Given the description of an element on the screen output the (x, y) to click on. 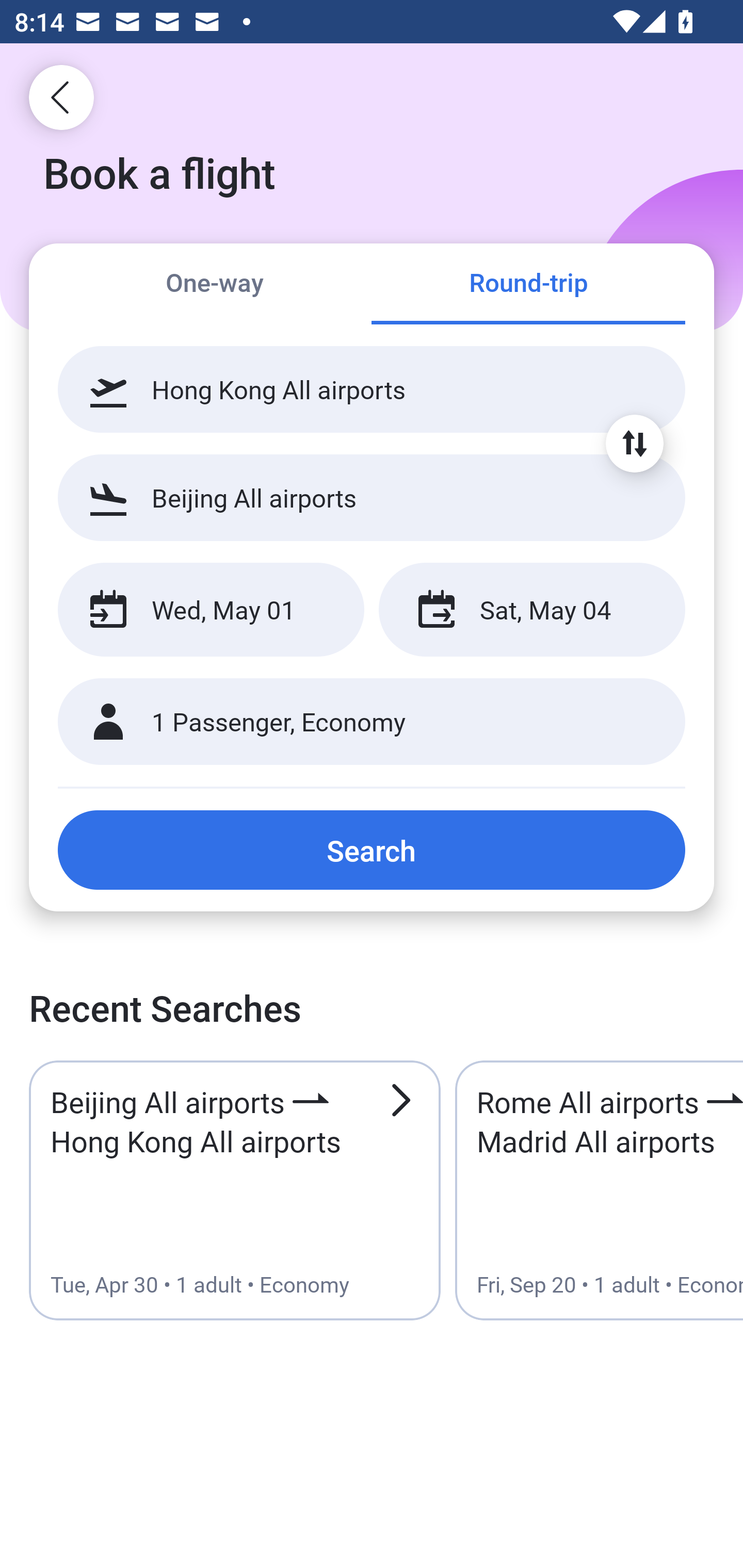
One-way (214, 284)
Hong Kong All airports (371, 389)
Beijing All airports (371, 497)
Wed, May 01 (210, 609)
Sat, May 04 (531, 609)
1 Passenger, Economy (371, 721)
Search (371, 849)
